Given the description of an element on the screen output the (x, y) to click on. 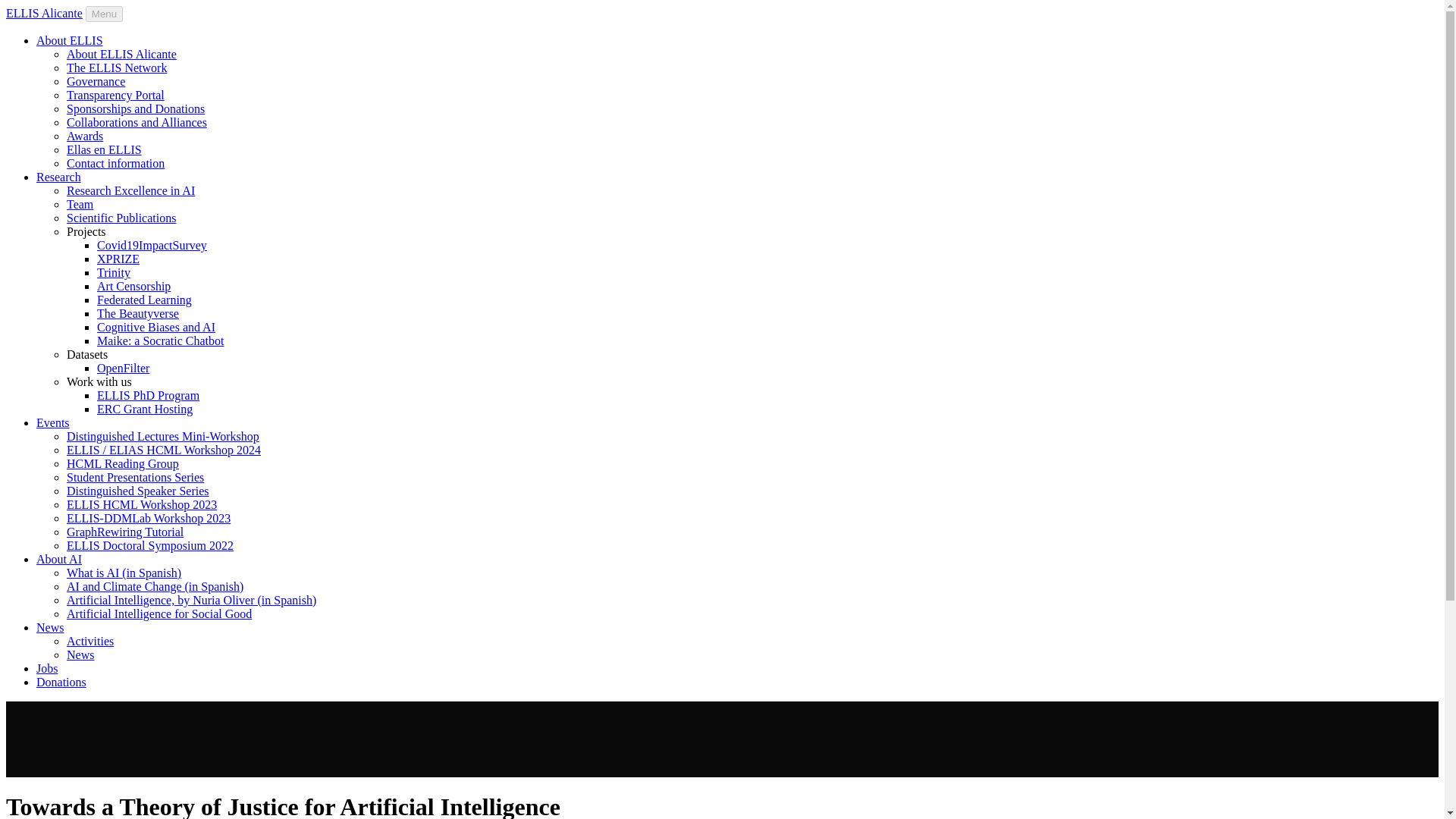
Governance (95, 81)
Student Presentations Series (134, 477)
ELLIS Doctoral Symposium 2022 (149, 545)
Datasets (86, 354)
Ellas en ELLIS (103, 149)
ELLIS PhD Program (148, 395)
Cognitive Biases and AI (156, 327)
Collaborations and Alliances (136, 122)
ELLIS Alicante (43, 12)
Work with us (99, 381)
